Given the description of an element on the screen output the (x, y) to click on. 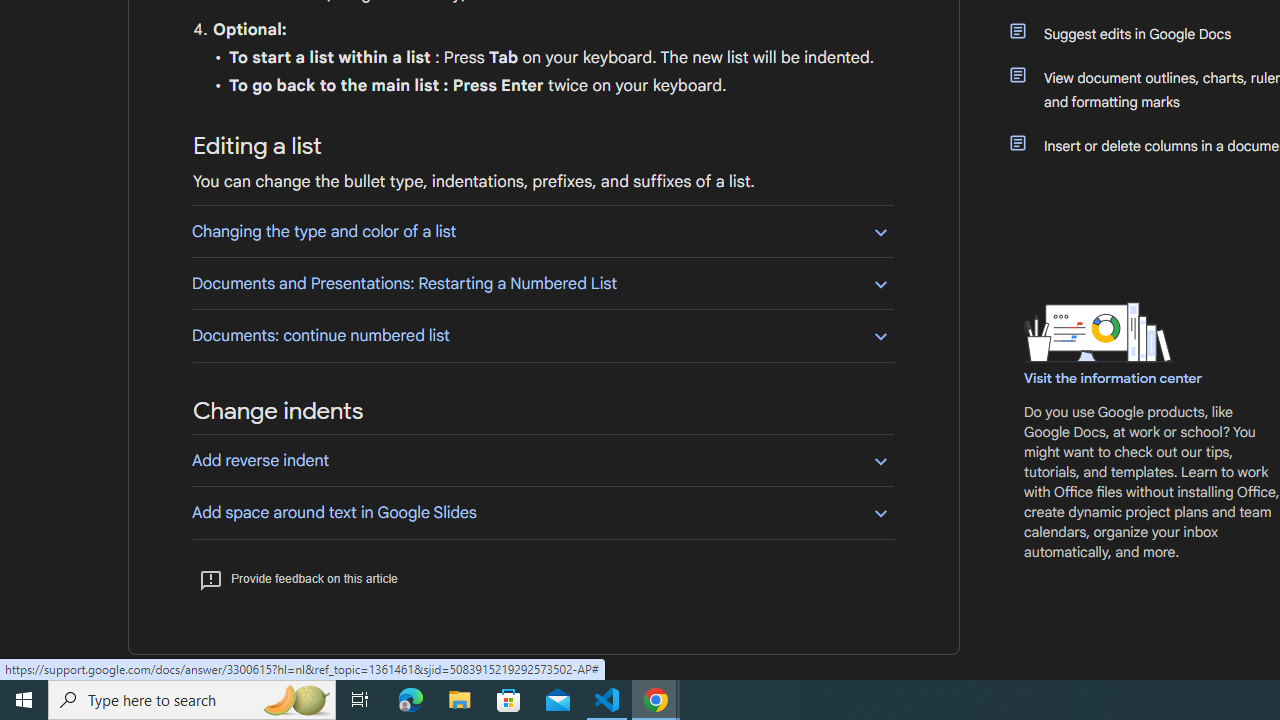
Documents: continue numbered list (542, 335)
Documents and Presentations: Restarting a Numbered List (542, 283)
Add space around text in Google Slides (542, 512)
Add reverse indent (542, 460)
Changing the type and color of a list (542, 231)
Visit the information center (1113, 378)
Provide feedback on this article (298, 578)
